Given the description of an element on the screen output the (x, y) to click on. 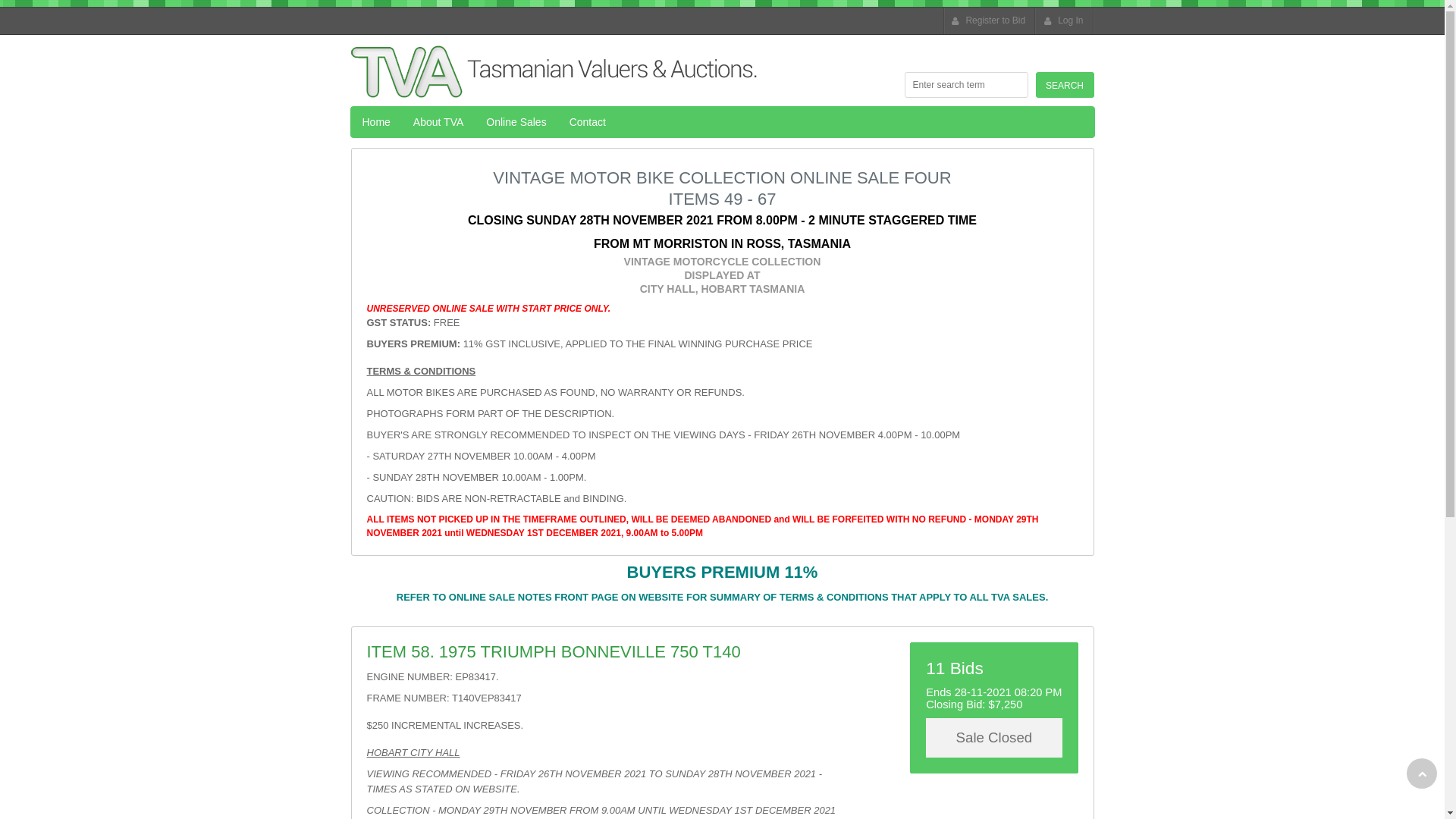
SEARCH Element type: text (1064, 84)
TVA - Tasmanian Valuers and Auctions Element type: hover (557, 71)
Home Element type: text (375, 121)
Contact Element type: text (587, 121)
About TVA Element type: text (437, 121)
Register to Bid Element type: text (989, 20)
Sale Closed Element type: text (993, 737)
Online Sales Element type: text (515, 121)
Log In Element type: text (1064, 20)
